Given the description of an element on the screen output the (x, y) to click on. 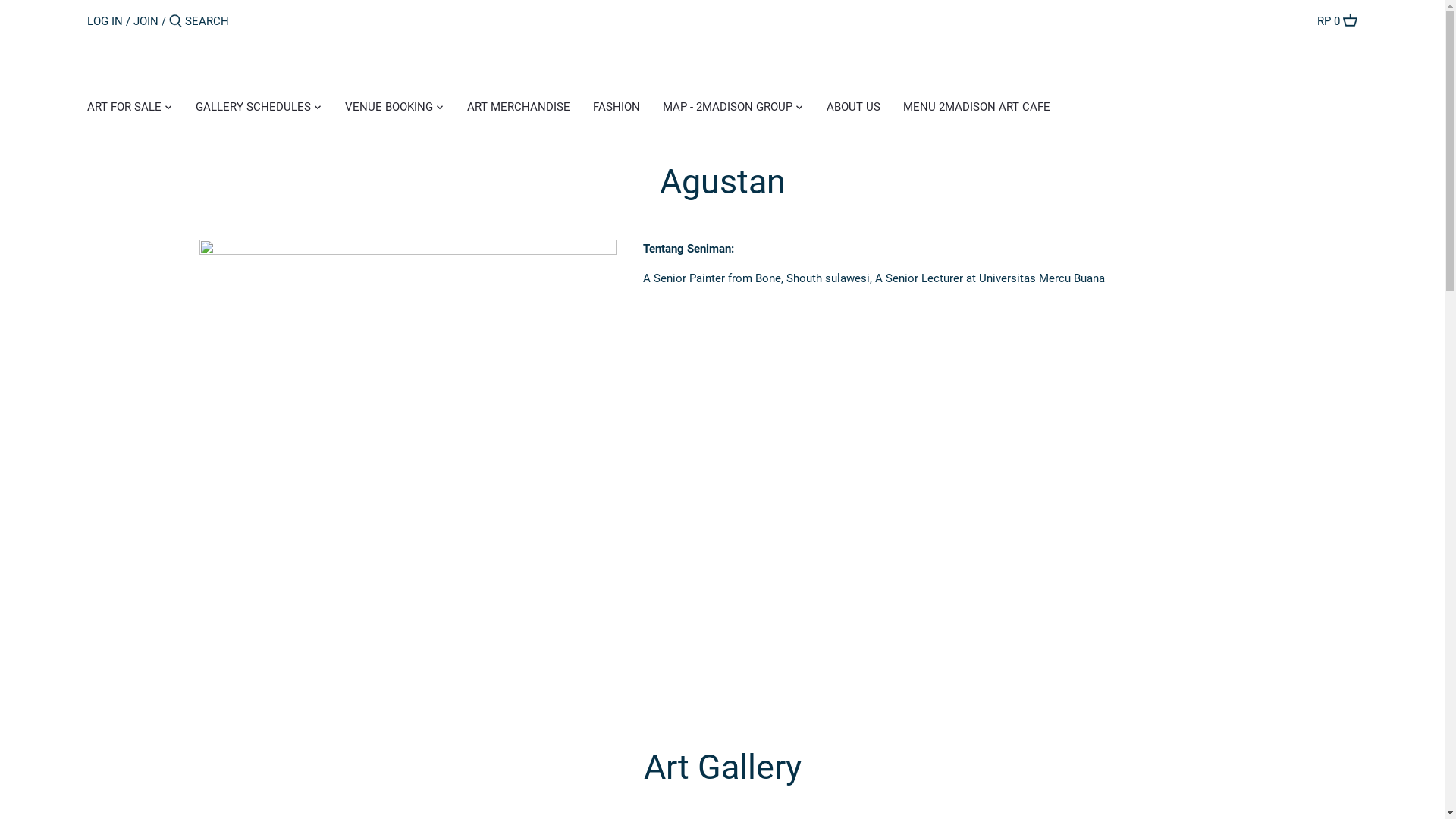
FASHION Element type: text (616, 108)
JOIN Element type: text (145, 20)
YouTube video player Element type: hover (825, 383)
MAP - 2MADISON GROUP Element type: text (727, 108)
GALLERY SCHEDULES Element type: text (253, 108)
ART MERCHANDISE Element type: text (518, 108)
ABOUT US Element type: text (853, 108)
VENUE BOOKING Element type: text (388, 108)
RP 0 Element type: text (1337, 20)
LOG IN Element type: text (104, 20)
MENU 2MADISON ART CAFE Element type: text (976, 108)
ART FOR SALE Element type: text (129, 108)
